Given the description of an element on the screen output the (x, y) to click on. 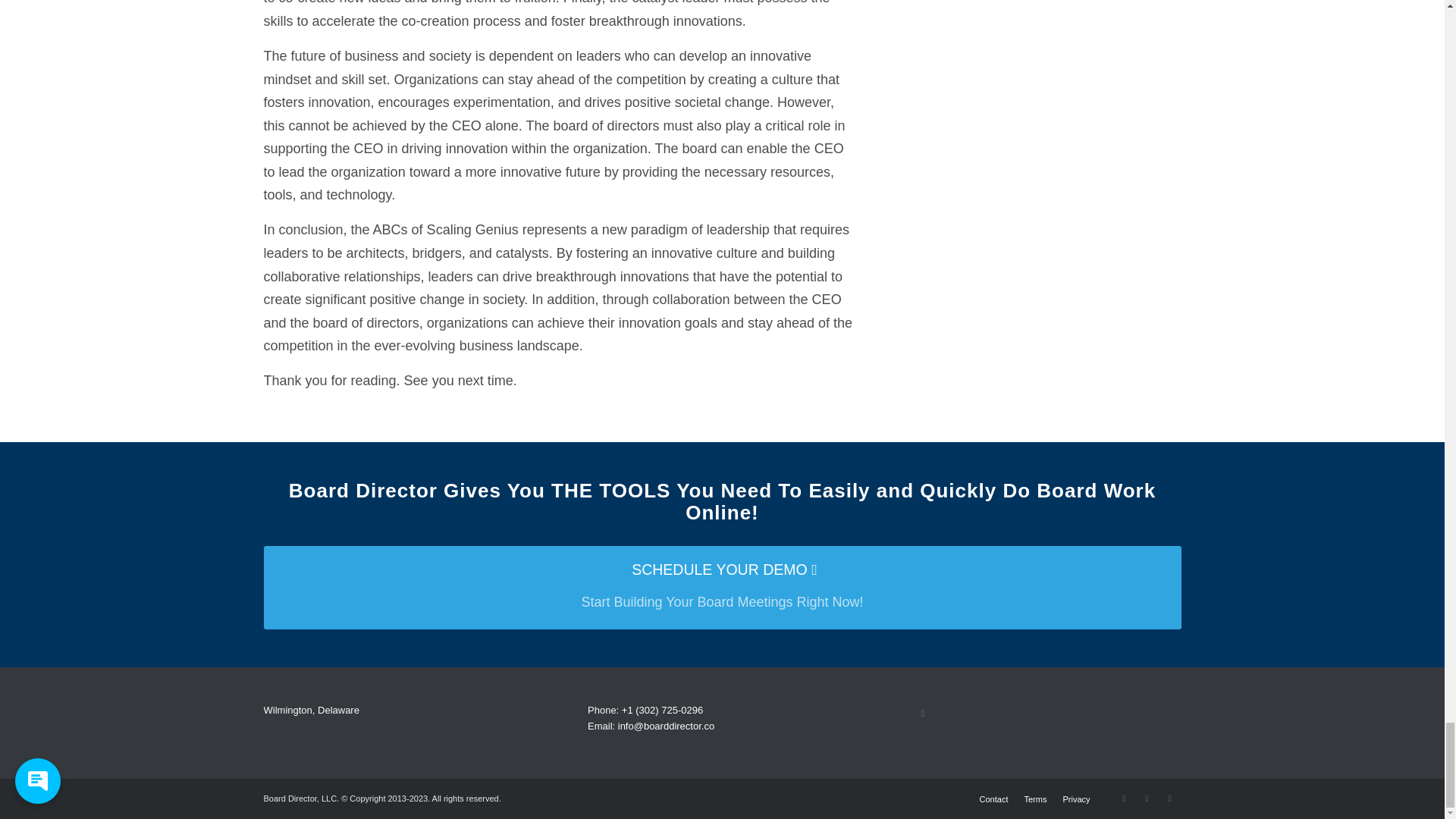
LinkedIn (1146, 798)
Facebook (1124, 798)
Facebook (923, 712)
Youtube (1169, 798)
Contact (994, 798)
Terms (1034, 798)
Privacy (1075, 798)
